Given the description of an element on the screen output the (x, y) to click on. 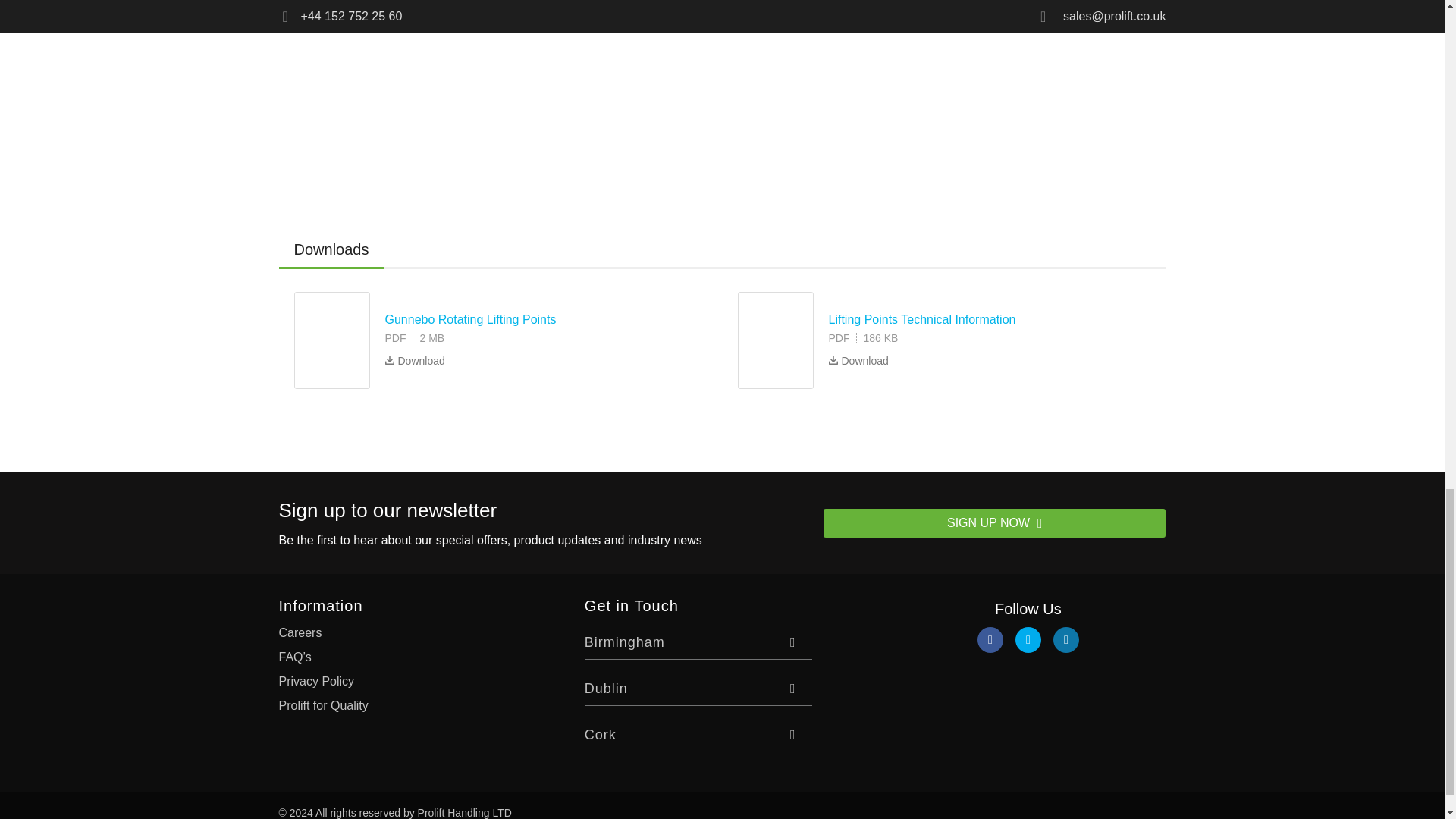
Prolift for Quality (323, 705)
Careers (300, 632)
Download (415, 358)
Downloads (331, 249)
SIGN UP NOW (995, 522)
Download (858, 358)
Lifting Points Technical Information (921, 320)
Gunnebo Rotating Lifting Points (470, 320)
Privacy Policy (317, 680)
